Given the description of an element on the screen output the (x, y) to click on. 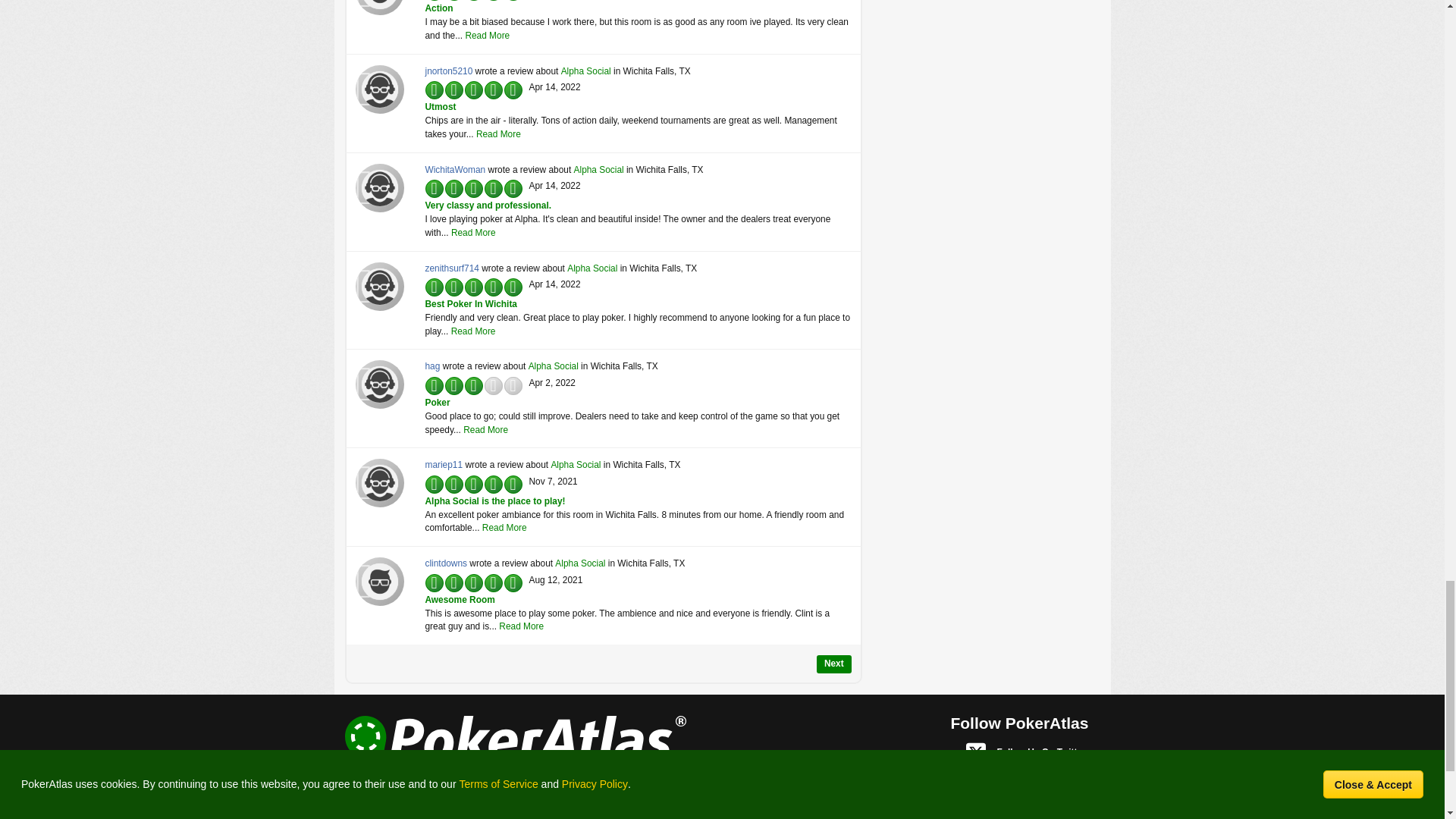
Apr 14, 2022 (554, 185)
Apr 14, 2022 (554, 86)
